Given the description of an element on the screen output the (x, y) to click on. 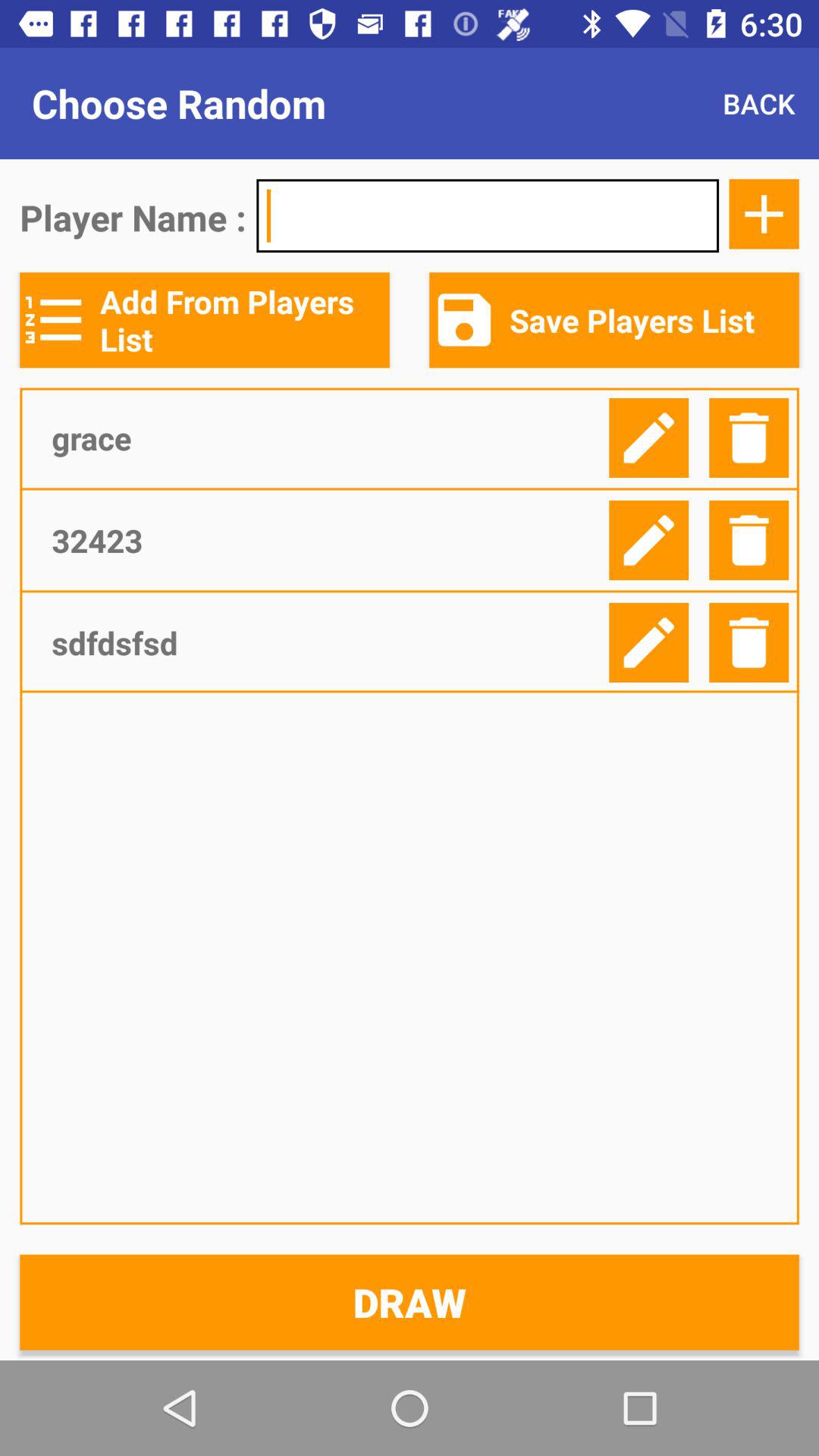
open item below back item (487, 215)
